Given the description of an element on the screen output the (x, y) to click on. 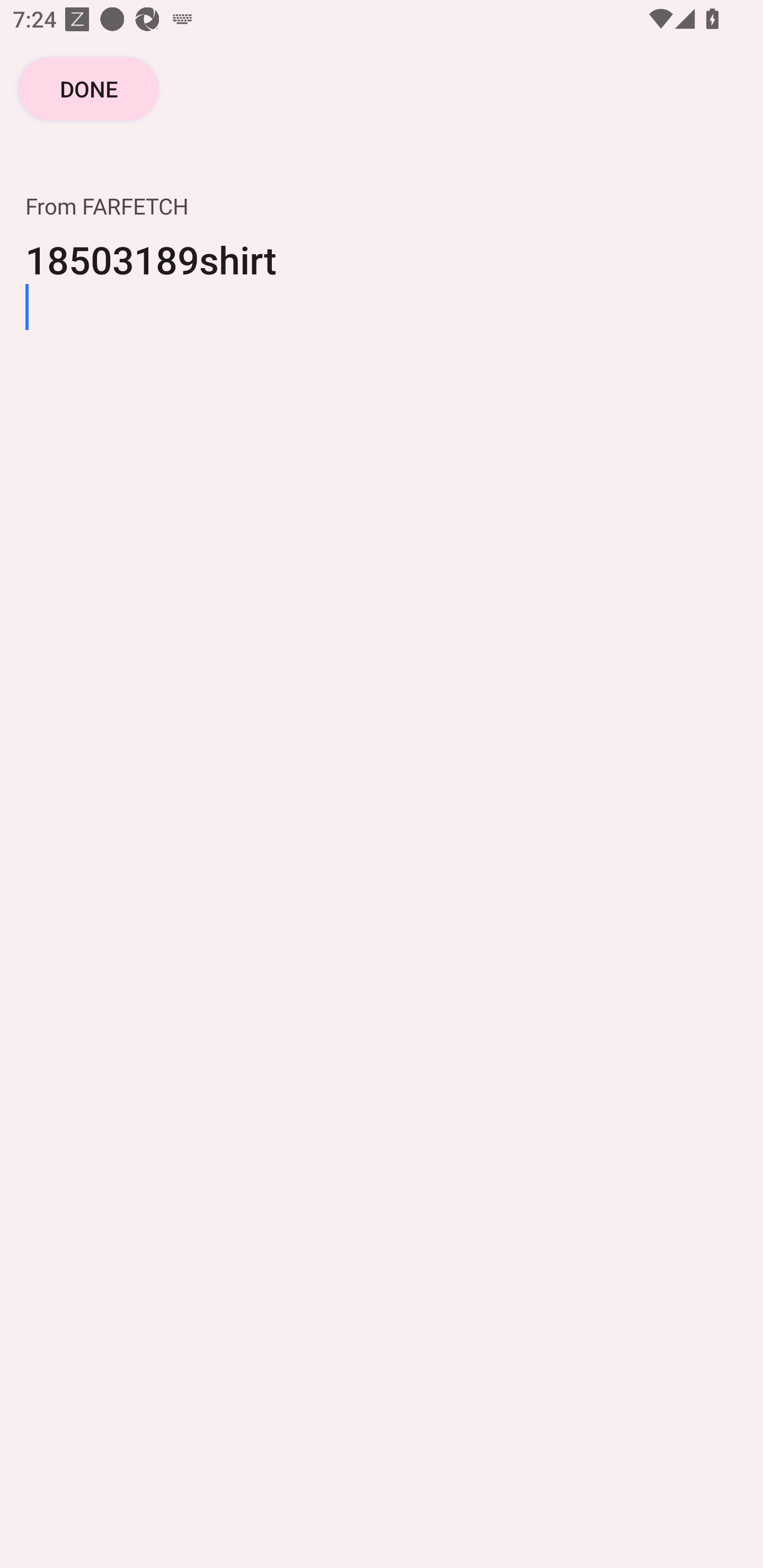
DONE (88, 88)
18503189shirt
 (381, 281)
